Given the description of an element on the screen output the (x, y) to click on. 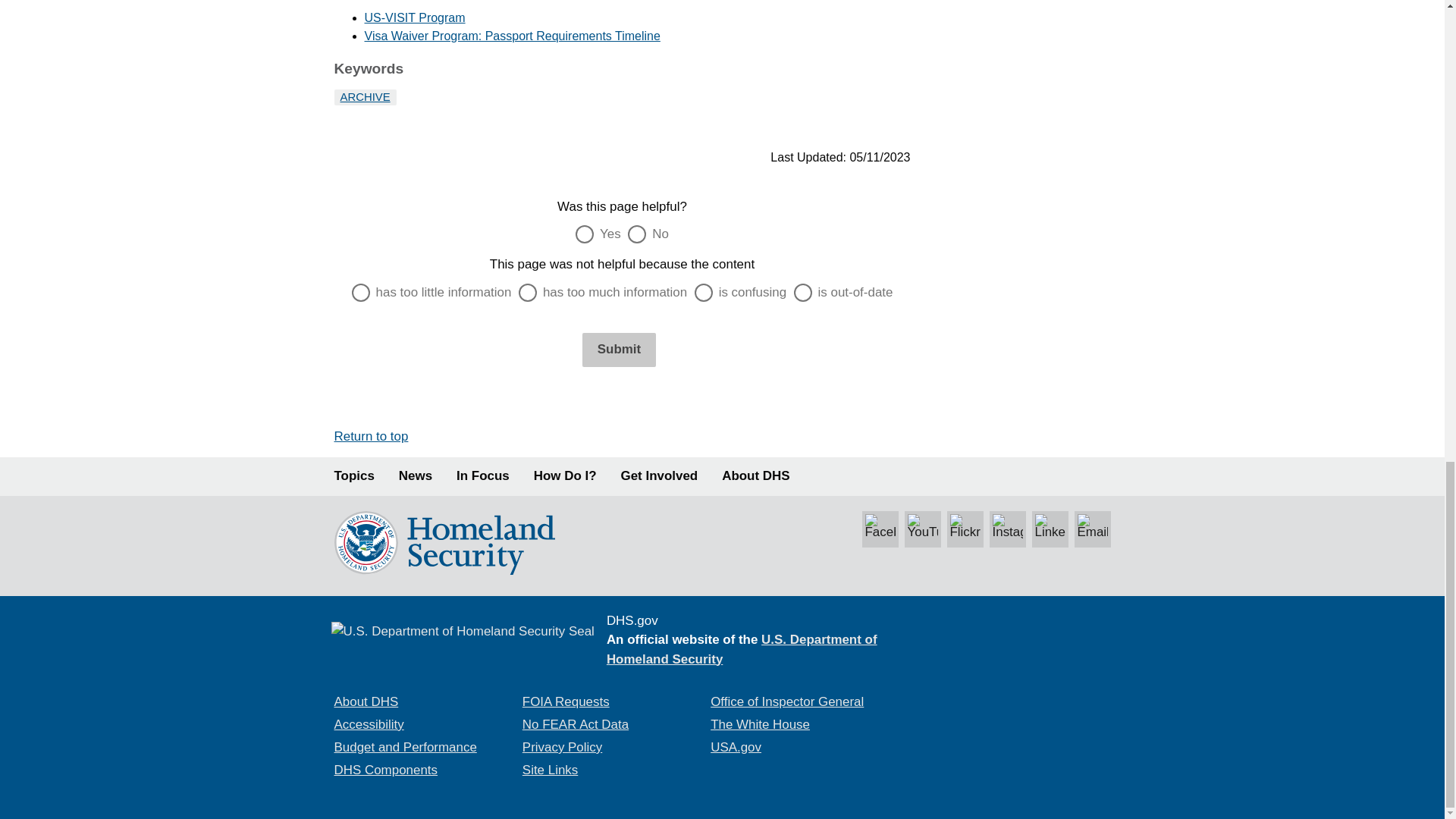
In Focus (483, 476)
ARCHIVE (364, 96)
National Terrorism Advisory System (1018, 678)
Return to top (370, 436)
Submit (619, 349)
Submit (619, 349)
Visa Waiver Program: Passport Requirements Timeline (511, 35)
US-VISIT Program (414, 17)
U.S. Department of Homeland Security (742, 648)
USA.gov (735, 747)
